Given the description of an element on the screen output the (x, y) to click on. 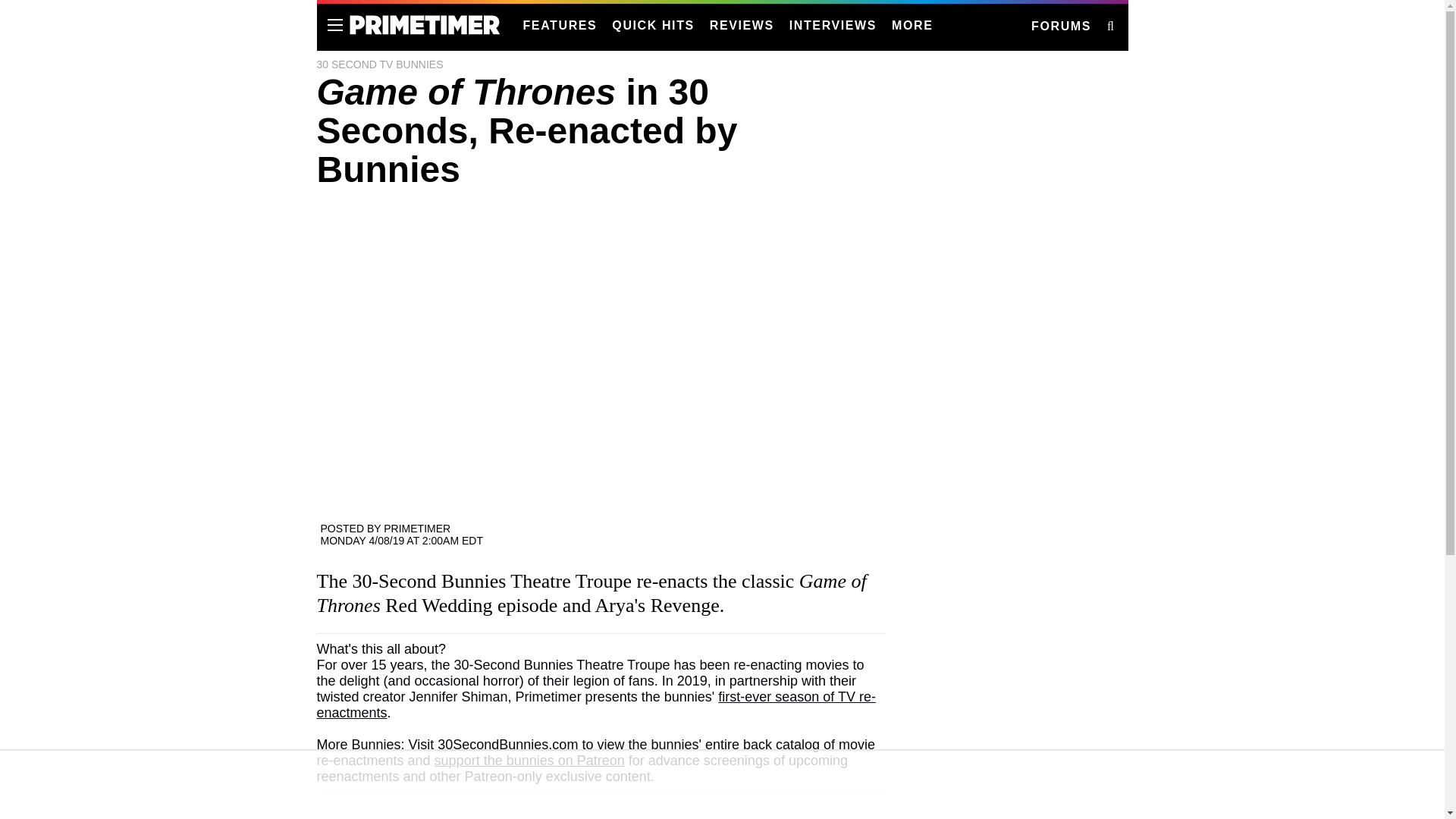
30SecondBunnies.com (508, 744)
QUICK HITS (652, 26)
REVIEWS (742, 26)
FORUMS (1060, 26)
MORE (912, 26)
FEATURES (559, 26)
INTERVIEWS (832, 26)
support the bunnies on Patreon (528, 760)
first-ever season of TV re-enactments (596, 704)
